Given the description of an element on the screen output the (x, y) to click on. 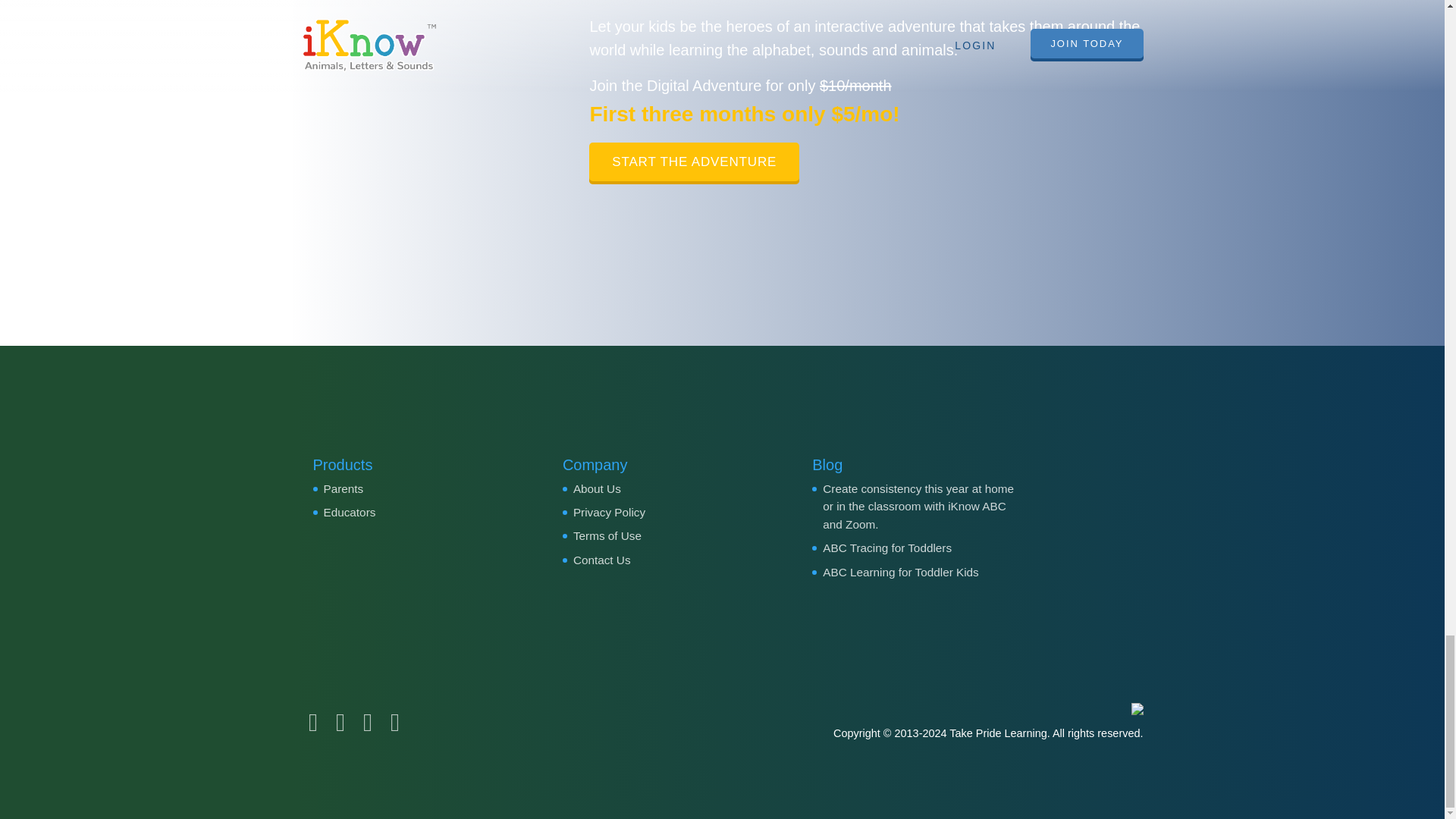
About Us (597, 488)
Parents (342, 488)
START THE ADVENTURE (694, 163)
Contact Us (601, 559)
Terms of Use (607, 535)
Privacy Policy (609, 512)
ABC Tracing for Toddlers (887, 547)
ABC Learning for Toddler Kids (900, 571)
Educators (349, 512)
